Given the description of an element on the screen output the (x, y) to click on. 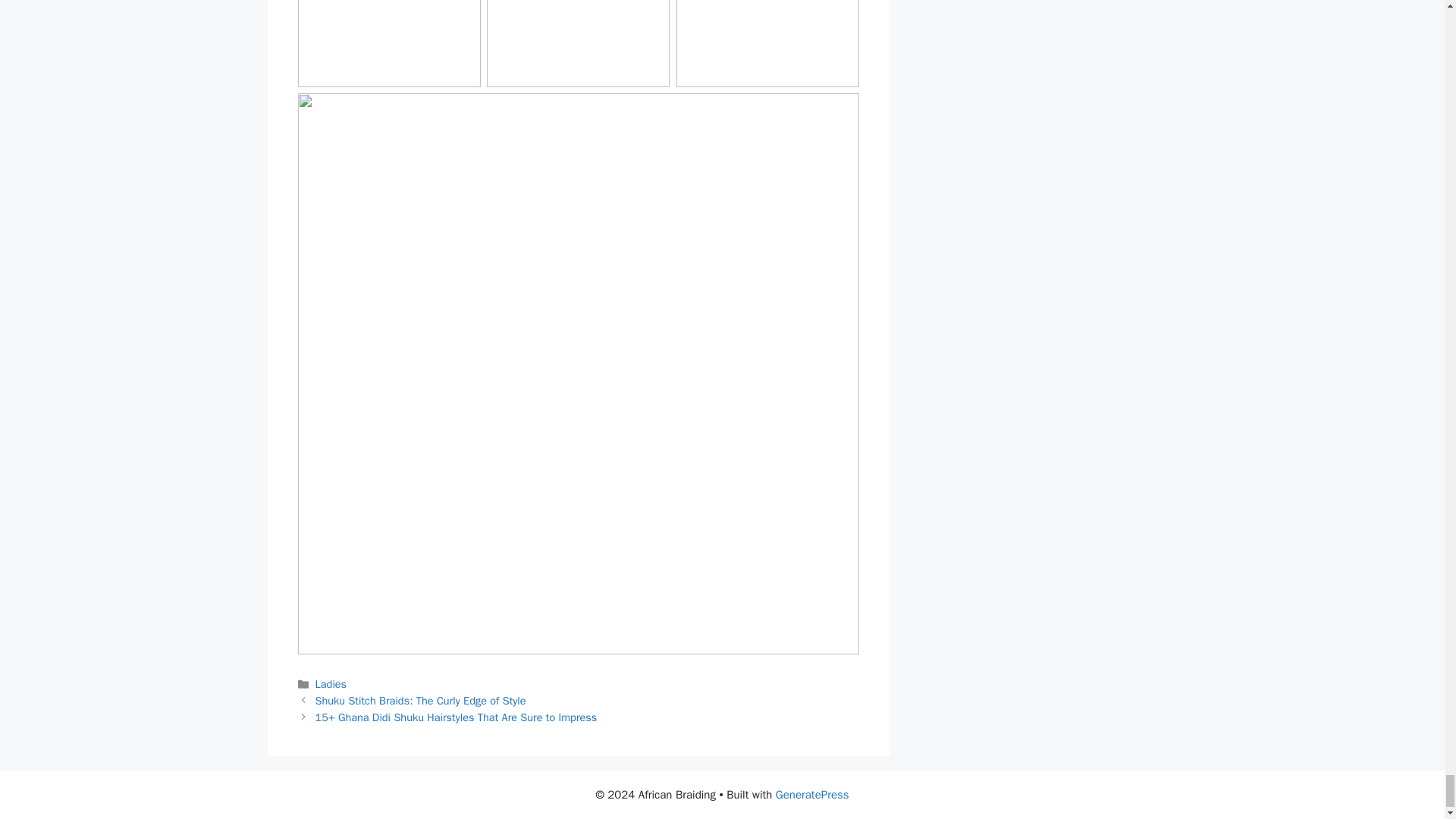
GeneratePress (812, 794)
Shuku Stitch Braids: The Curly Edge of Style (420, 700)
Ladies (331, 684)
